Given the description of an element on the screen output the (x, y) to click on. 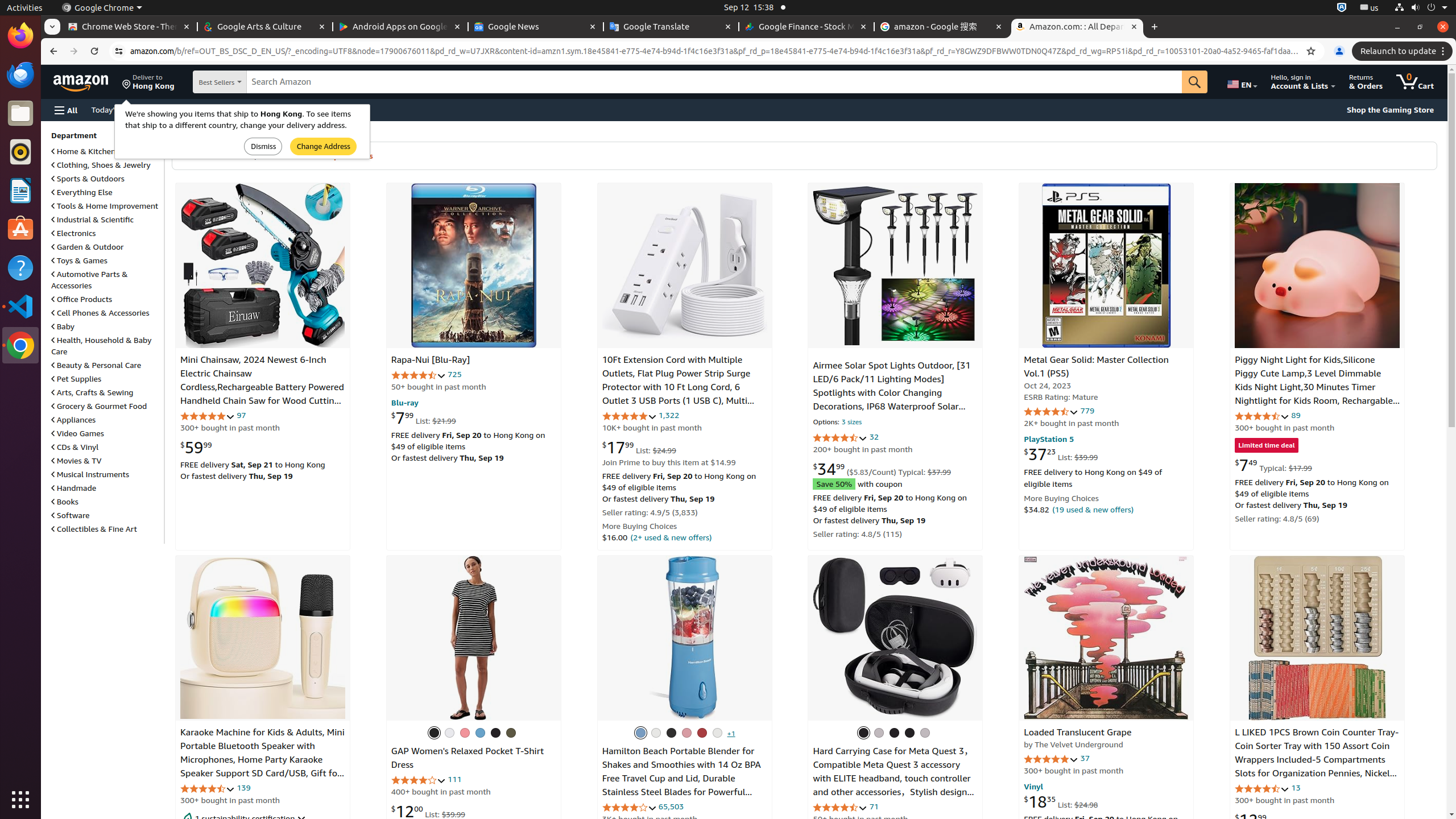
4.4 out of 5 stars Element type: push-button (839, 807)
Vinyl Element type: link (1033, 785)
Sports & Outdoors Element type: link (87, 178)
$7.49 Typical: $17.99 Element type: link (1273, 464)
Off White Element type: push-button (893, 732)
